Given the description of an element on the screen output the (x, y) to click on. 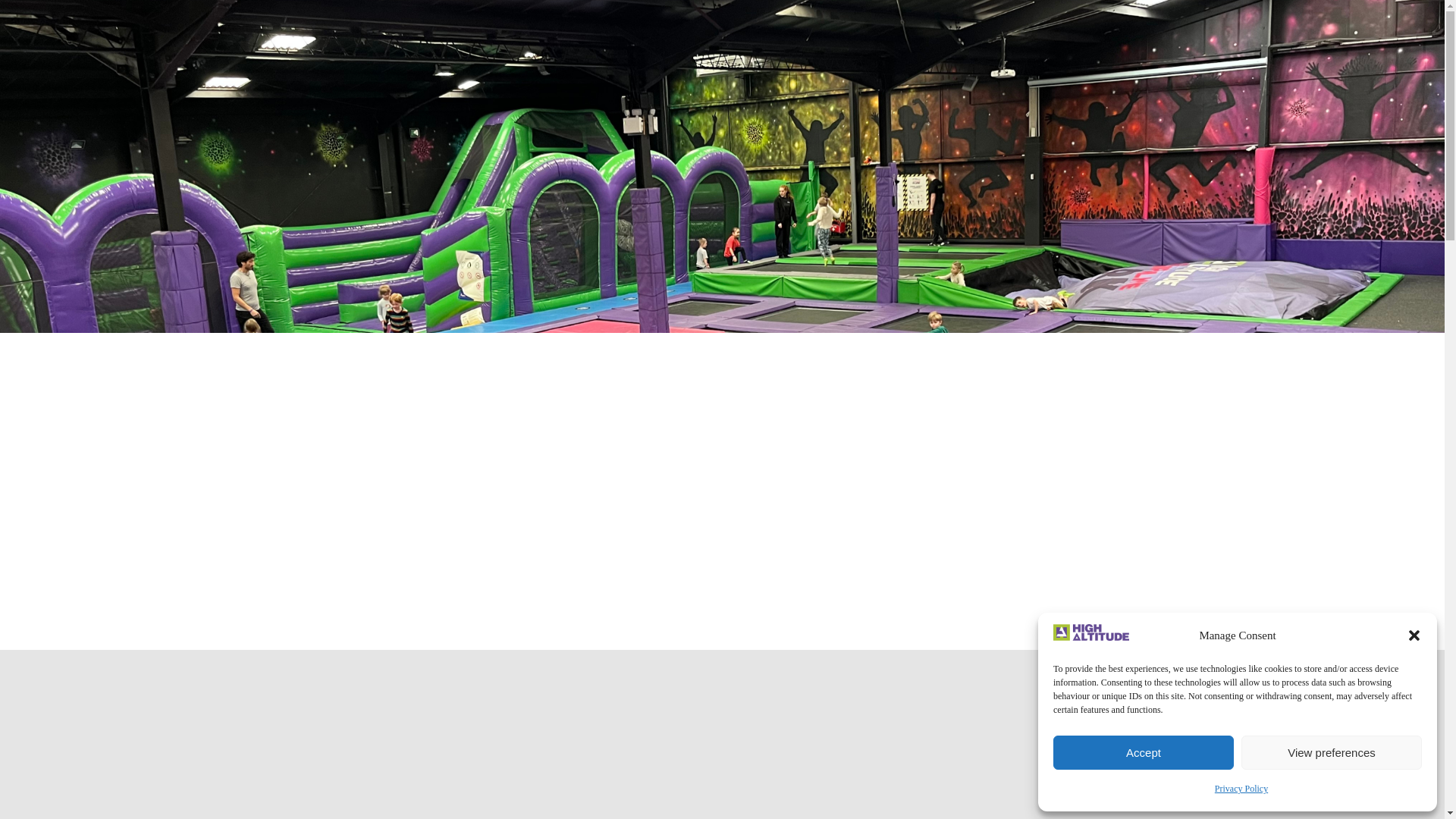
Accept (1142, 752)
bookNow (1358, 65)
Vouchers (1298, 16)
01603 567200 (62, 16)
Offers (1386, 16)
Blog (1345, 16)
View preferences (1331, 752)
Privacy Policy (1241, 788)
Memberships (1236, 16)
